Given the description of an element on the screen output the (x, y) to click on. 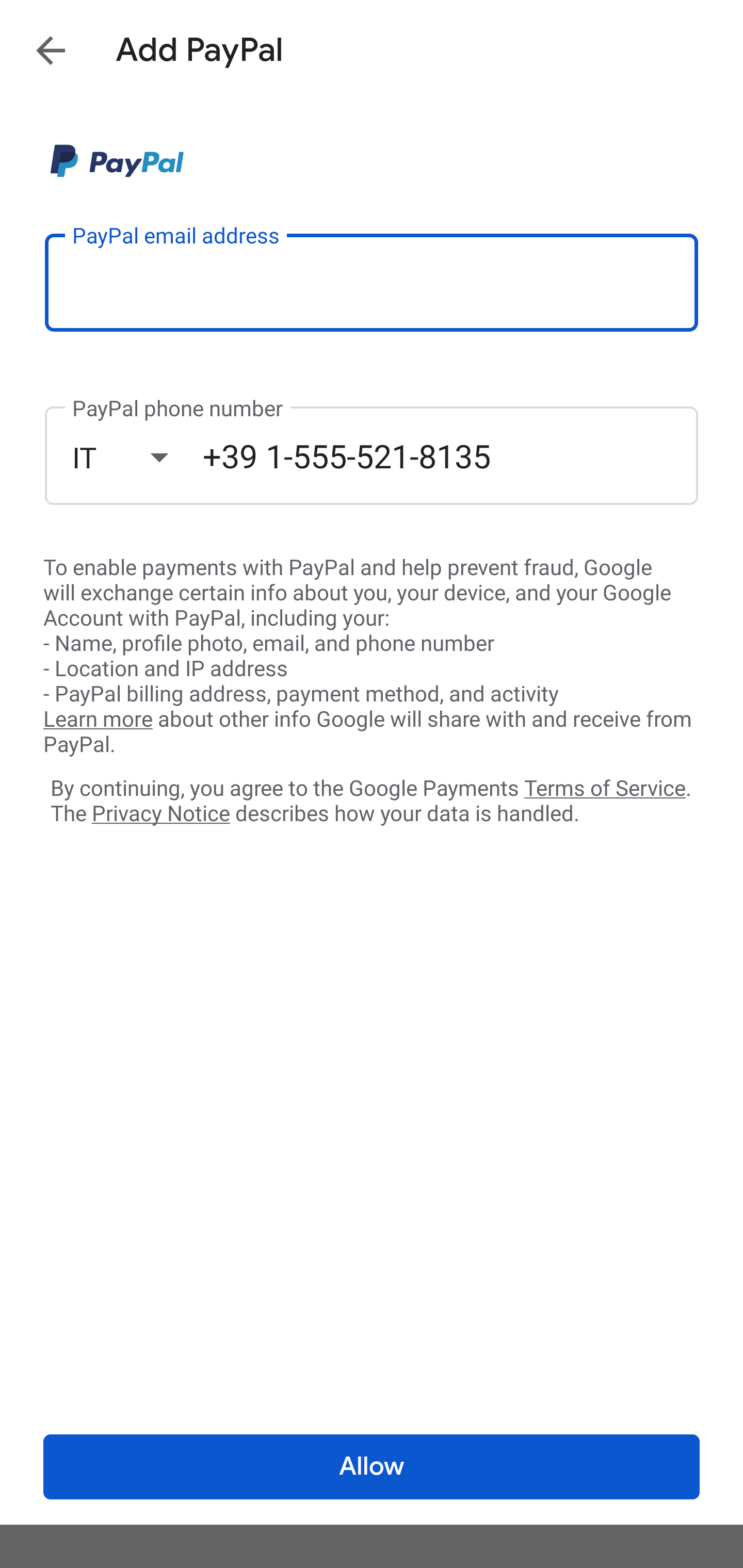
Navigate up (50, 50)
PayPal email address (371, 282)
IT (137, 456)
Learn more (97, 719)
Terms of Service (604, 787)
Privacy Notice (160, 814)
Allow (371, 1466)
